Given the description of an element on the screen output the (x, y) to click on. 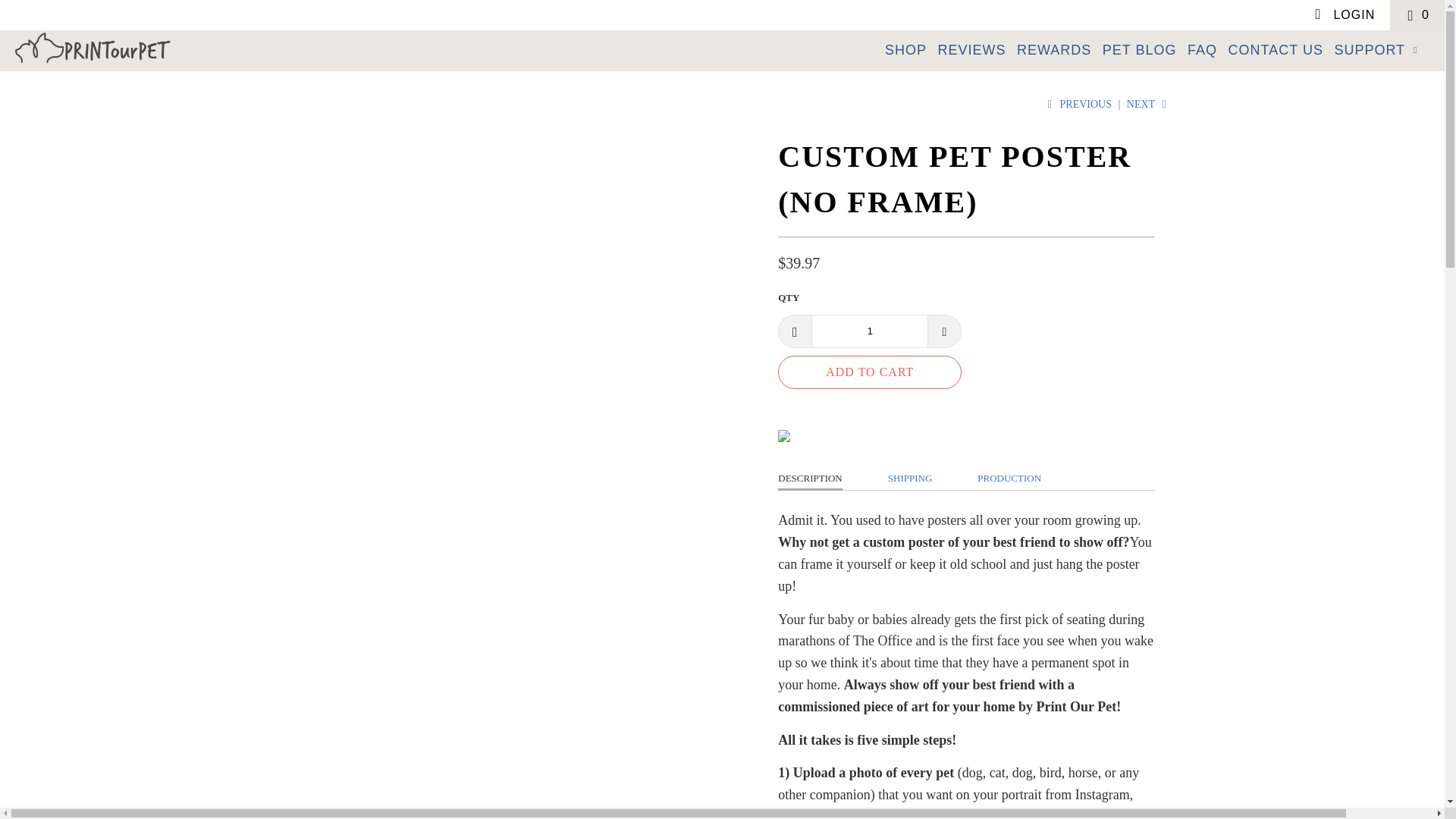
My Account  (1343, 15)
REWARDS (1053, 50)
LOGIN (1343, 15)
Next (1148, 103)
PET BLOG (1139, 50)
CONTACT US (1275, 50)
NEXT (1148, 103)
SUPPORT (1377, 50)
Print Our Pet (122, 49)
Previous (1077, 103)
SHOP (905, 50)
1 (869, 331)
REVIEWS (971, 50)
0 (1417, 15)
PREVIOUS (1077, 103)
